Given the description of an element on the screen output the (x, y) to click on. 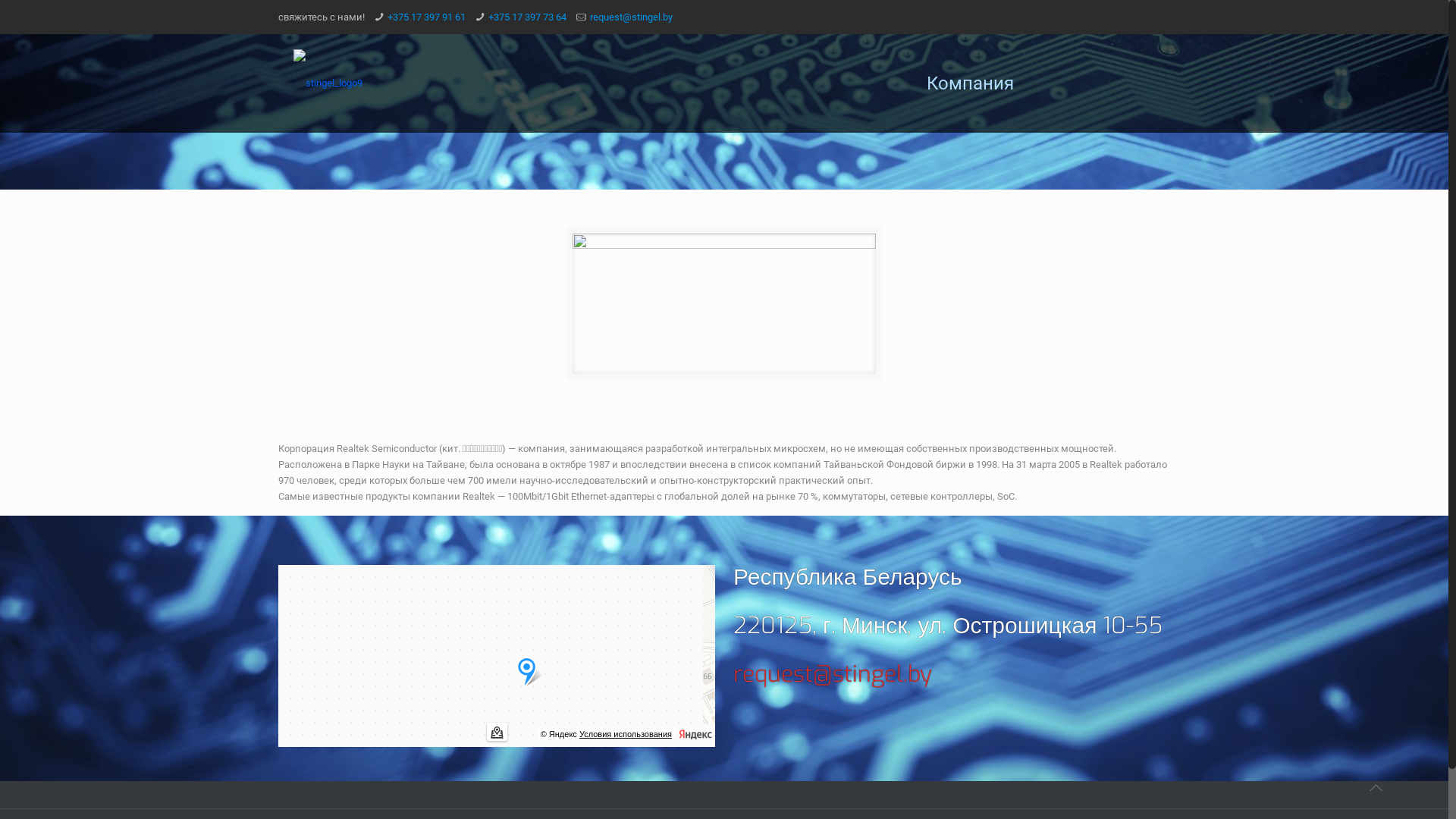
request@stingel.by Element type: text (832, 673)
+375 17 397 73 64 Element type: text (527, 16)
request@stingel.by Element type: text (630, 16)
+375 17 397 91 61 Element type: text (426, 16)
